Given the description of an element on the screen output the (x, y) to click on. 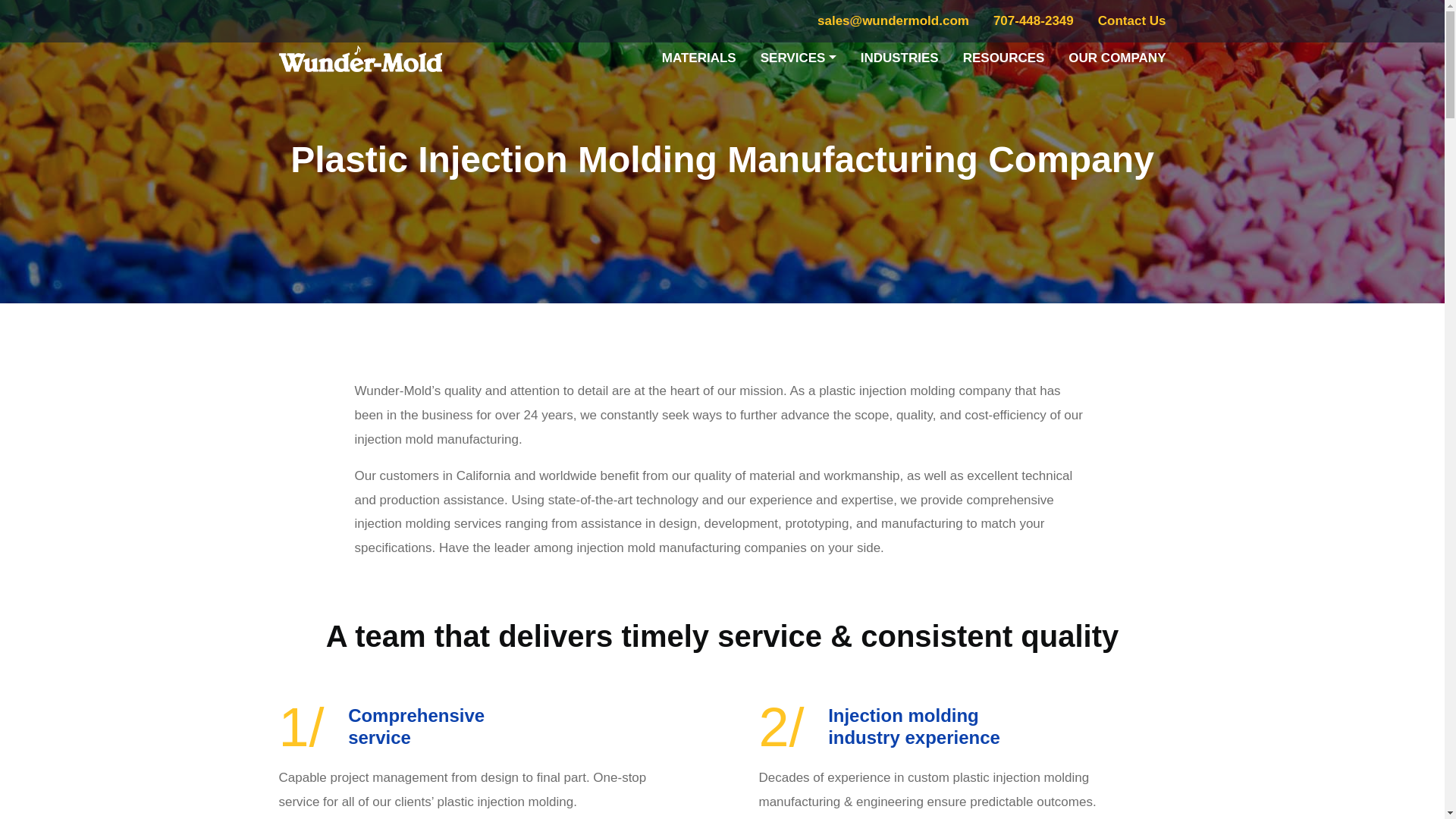
707-448-2349 (1033, 21)
Resources (1003, 57)
Our Company (1111, 57)
INDUSTRIES (899, 57)
707-448-2349 (1033, 21)
Materials (698, 57)
Contact Us (1126, 21)
Industries (899, 57)
MATERIALS (698, 57)
RESOURCES (1003, 57)
Services (798, 57)
OUR COMPANY (1111, 57)
Contact Us (1126, 21)
SERVICES (798, 57)
